Given the description of an element on the screen output the (x, y) to click on. 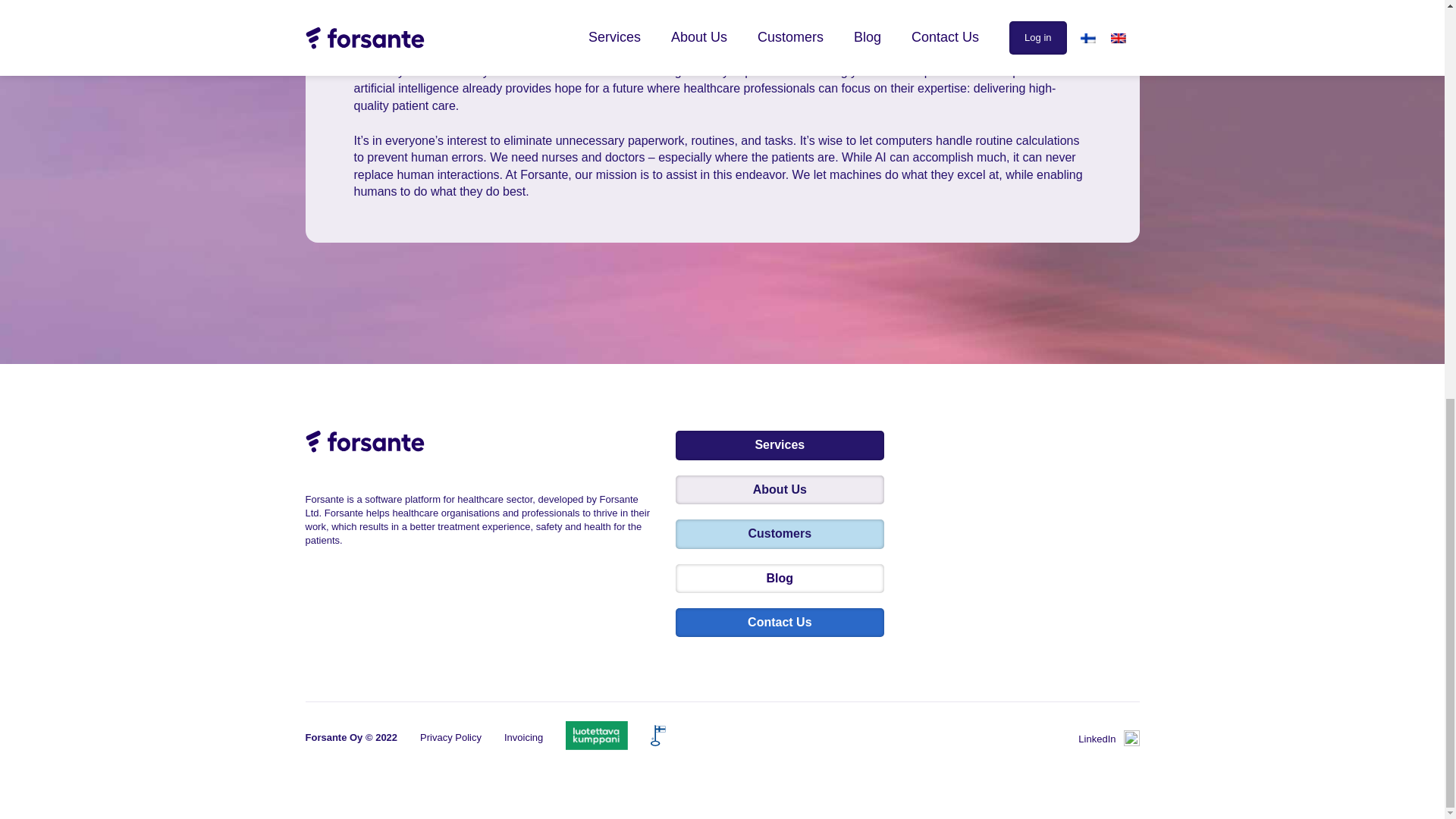
Services (779, 444)
